Given the description of an element on the screen output the (x, y) to click on. 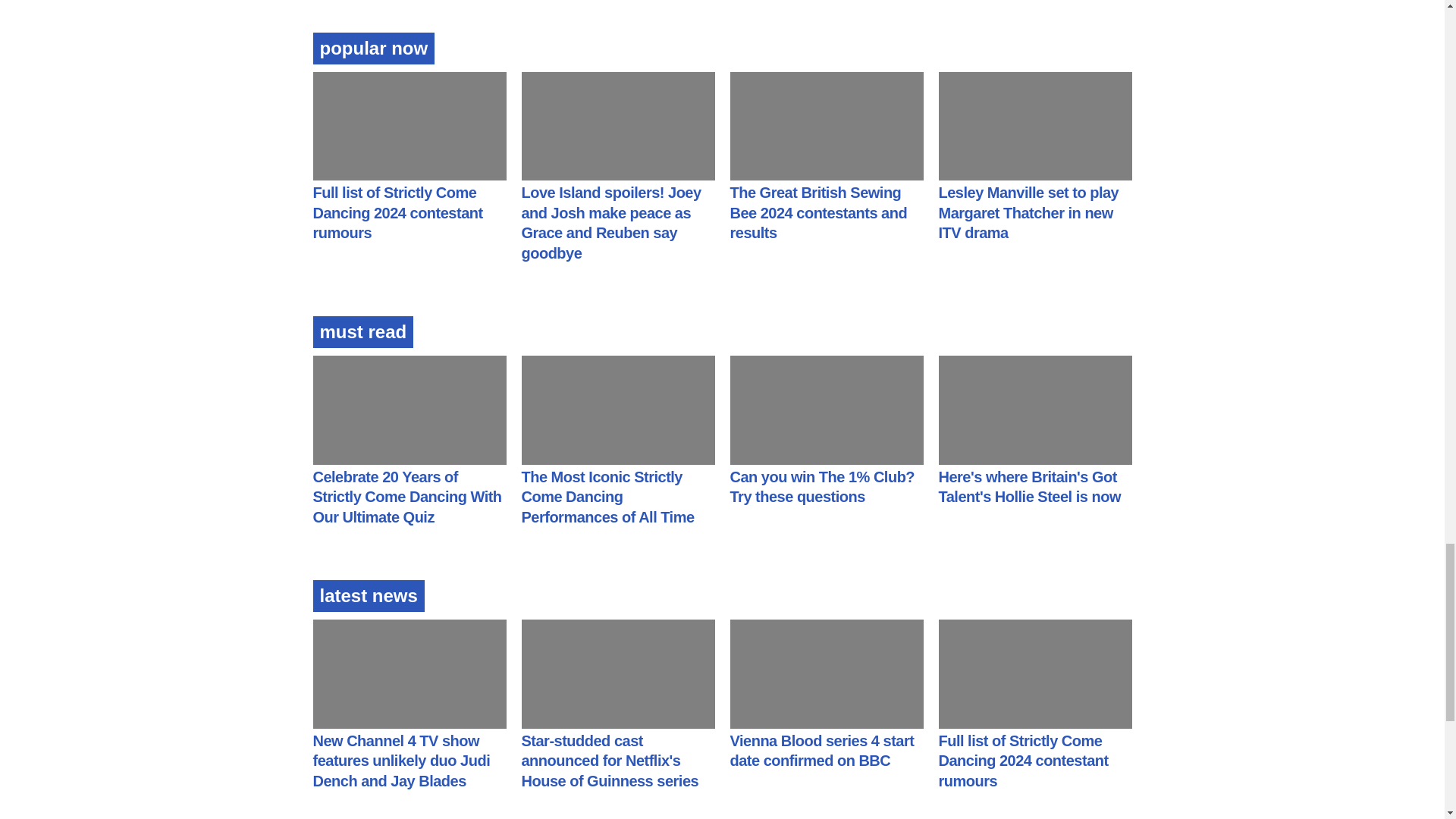
The Great British Sewing Bee 2024 contestants and results (818, 212)
Full list of Strictly Come Dancing 2024 contestant rumours (397, 212)
